Given the description of an element on the screen output the (x, y) to click on. 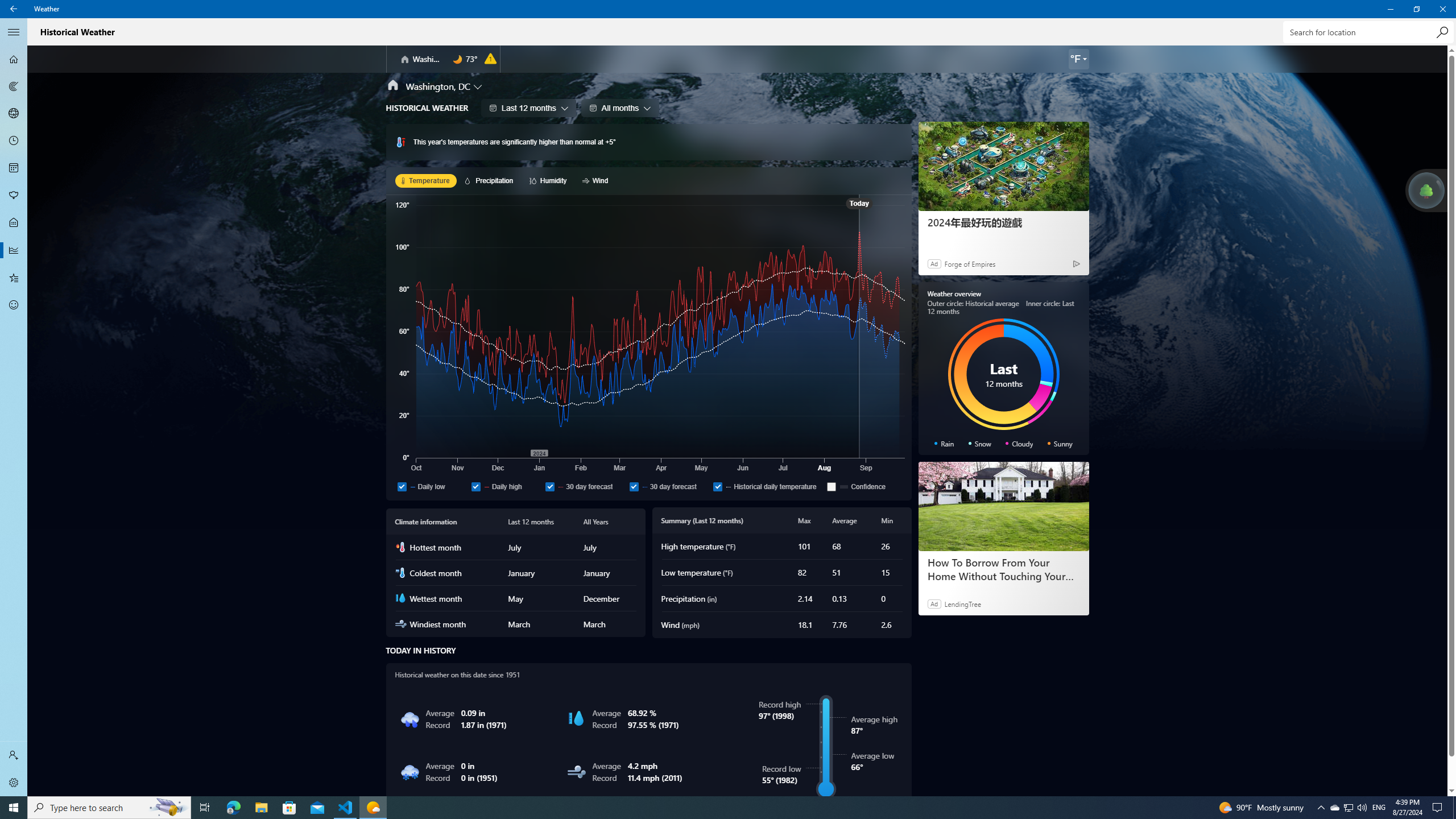
Running applications (706, 807)
Forecast - Not Selected (13, 58)
Maps - Not Selected (13, 85)
Collapse Navigation (13, 31)
Pollen - Not Selected (13, 195)
